Given the description of an element on the screen output the (x, y) to click on. 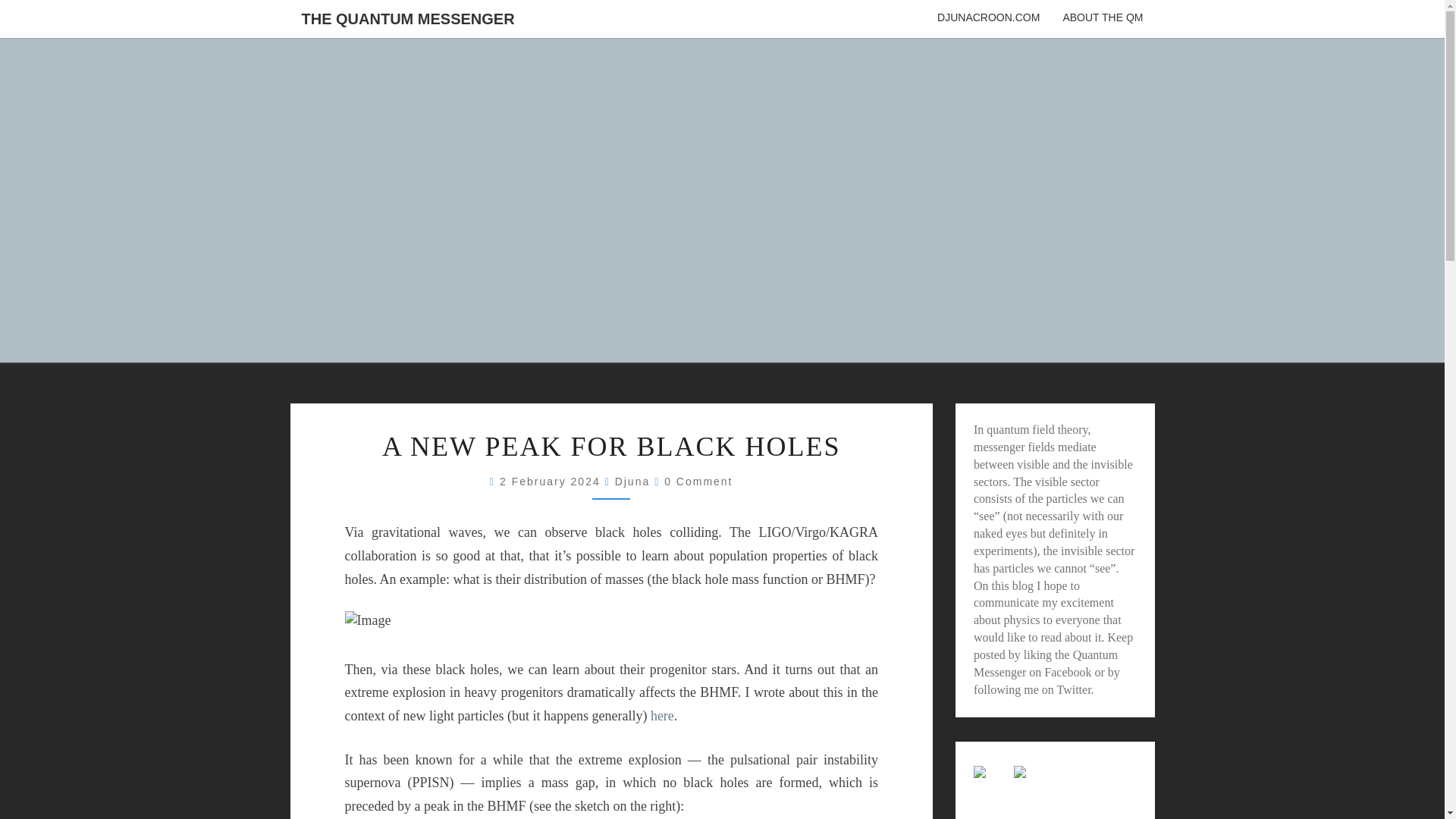
0 Comment (697, 481)
10:55 (552, 481)
Twitter (1073, 689)
Follow us on Facebook (979, 771)
Follow us on Twitter (1019, 771)
Facebook (1066, 671)
Djuna (632, 481)
Follow us on Facebook (992, 783)
here (662, 715)
Follow us on Twitter (1031, 783)
